Given the description of an element on the screen output the (x, y) to click on. 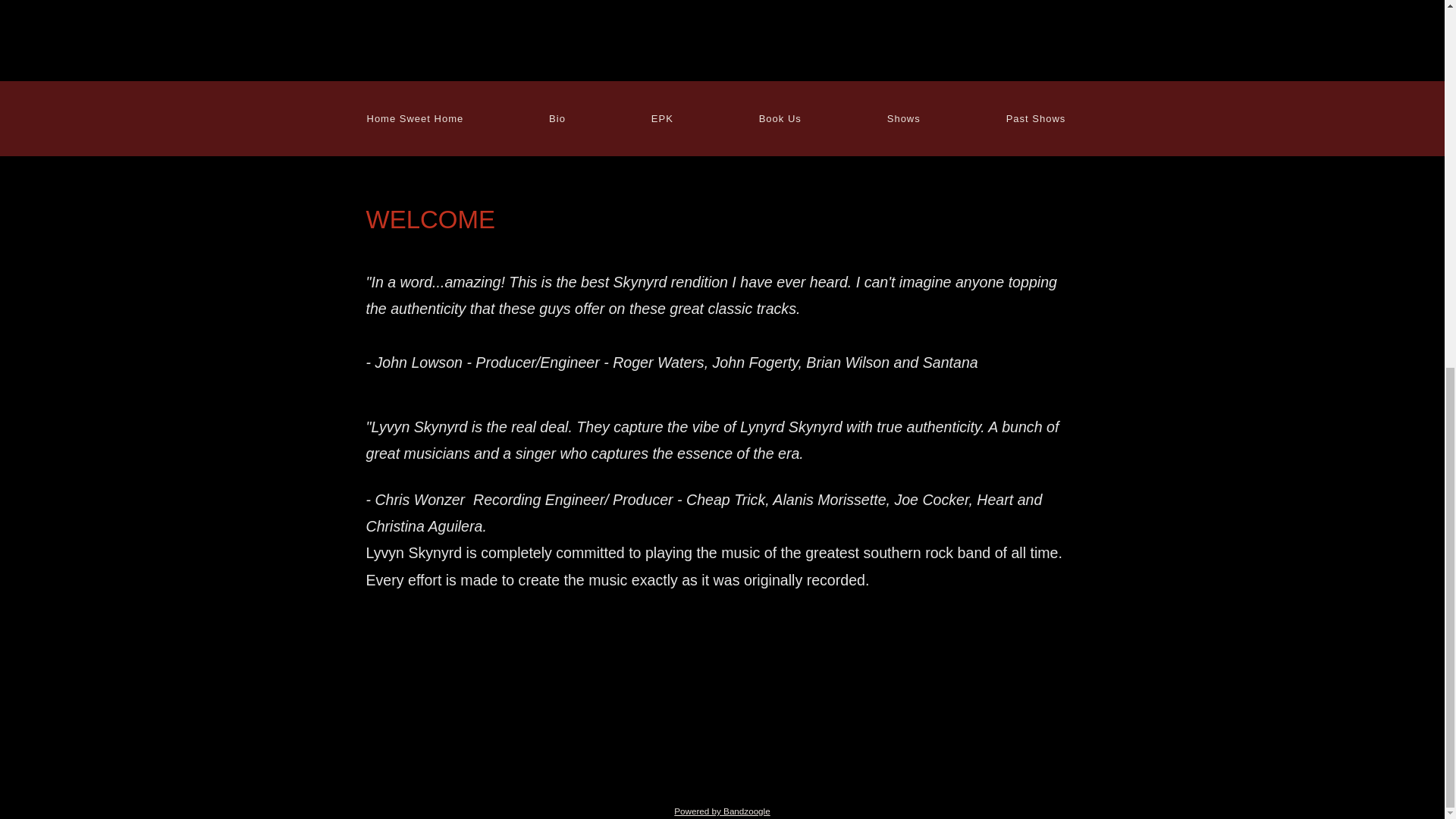
Home Sweet Home (414, 118)
Powered by Bandzoogle (722, 810)
EPK (662, 118)
Shows (903, 118)
Book Us (780, 118)
Powered by Bandzoogle (722, 810)
Past Shows (1035, 118)
